Given the description of an element on the screen output the (x, y) to click on. 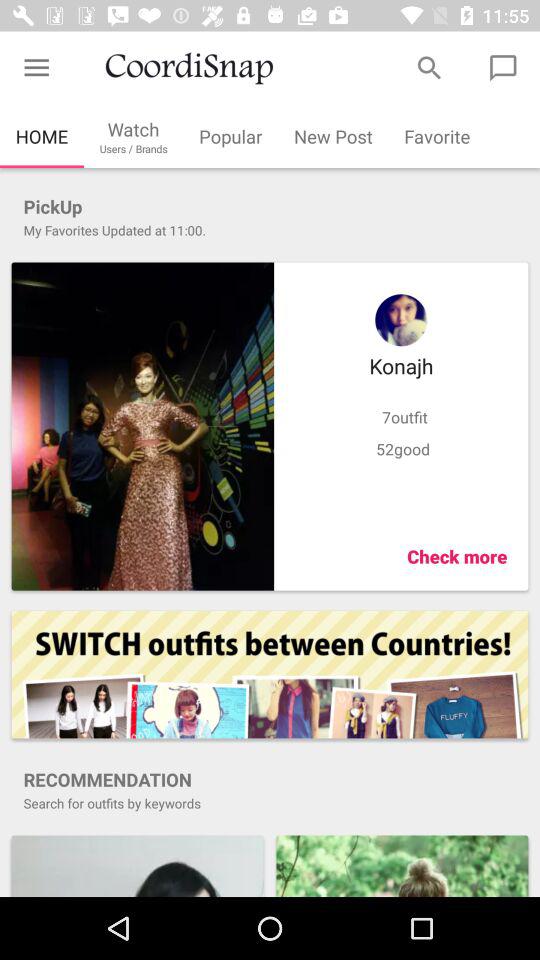
share the article (137, 865)
